Given the description of an element on the screen output the (x, y) to click on. 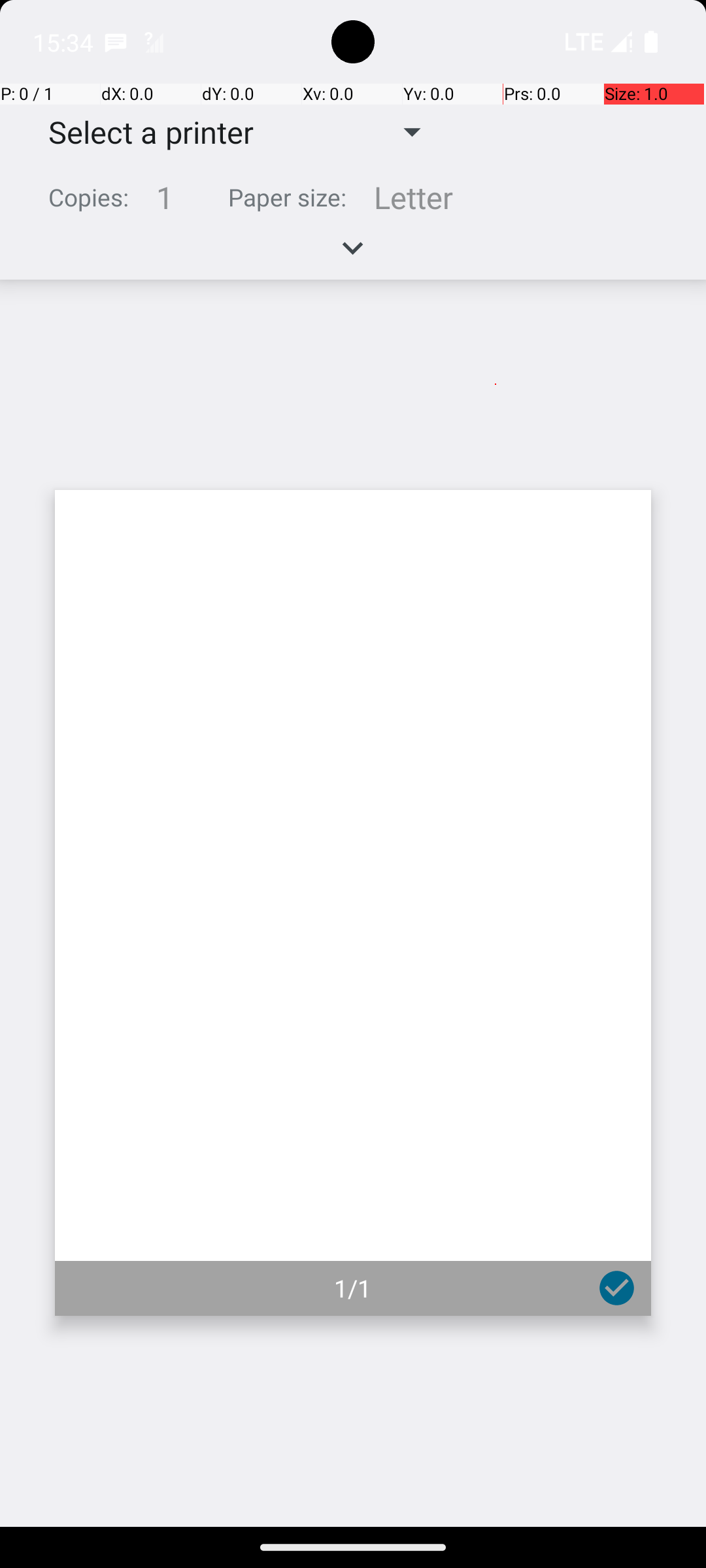
Expand handle Element type: android.widget.FrameLayout (353, 255)
Summary, copies 1, paper size Letter Element type: android.widget.LinearLayout (353, 202)
Select a printer Element type: android.widget.TextView (140, 131)
Copies: Element type: android.widget.TextView (88, 196)
Paper size: Element type: android.widget.TextView (287, 196)
